Given the description of an element on the screen output the (x, y) to click on. 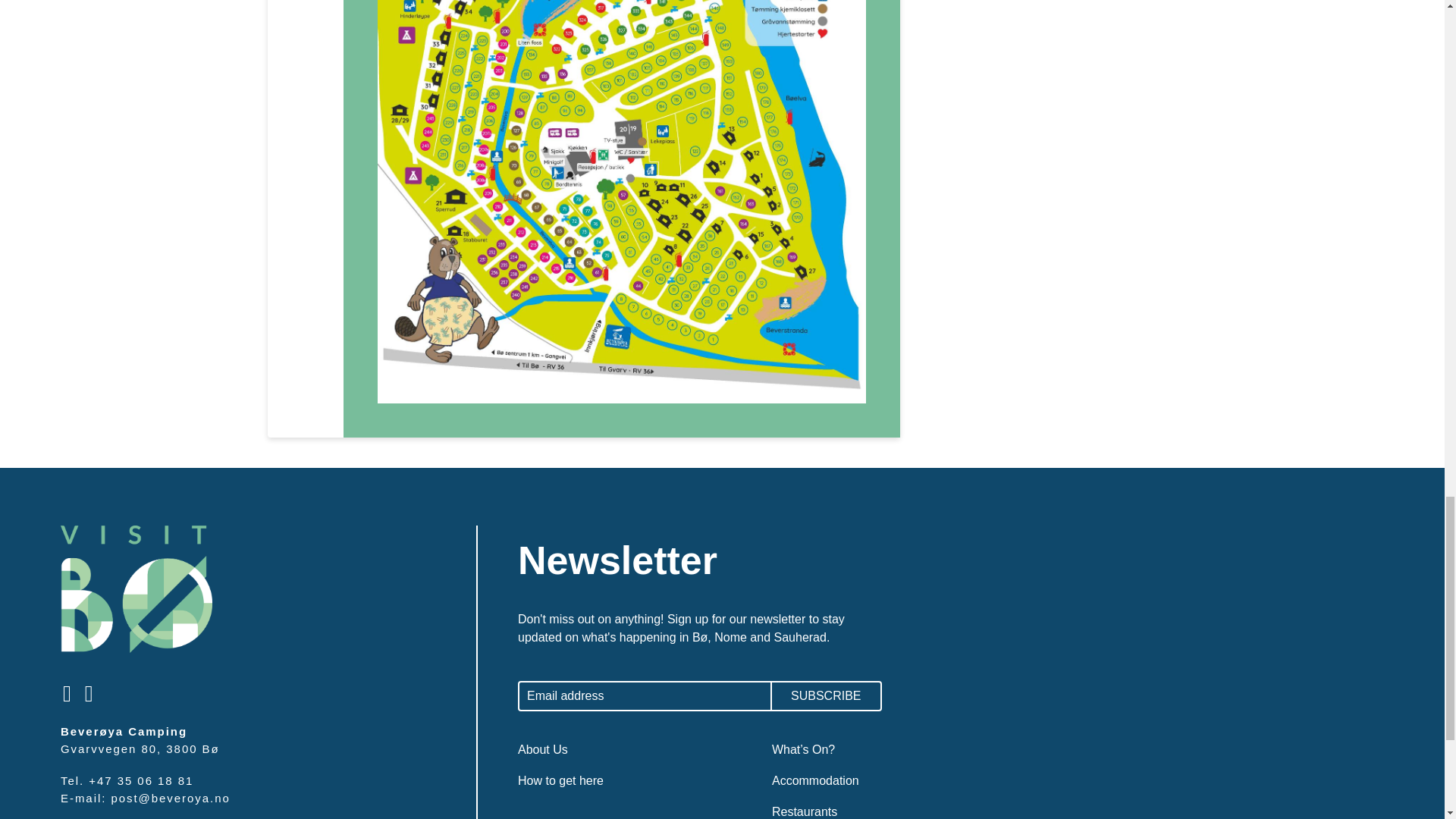
SUBSCRIBE (826, 695)
SUBSCRIBE (826, 695)
How to get here (561, 780)
35 06 18 81 (155, 780)
Restaurants (804, 811)
About Us (542, 748)
Accommodation (815, 780)
